Given the description of an element on the screen output the (x, y) to click on. 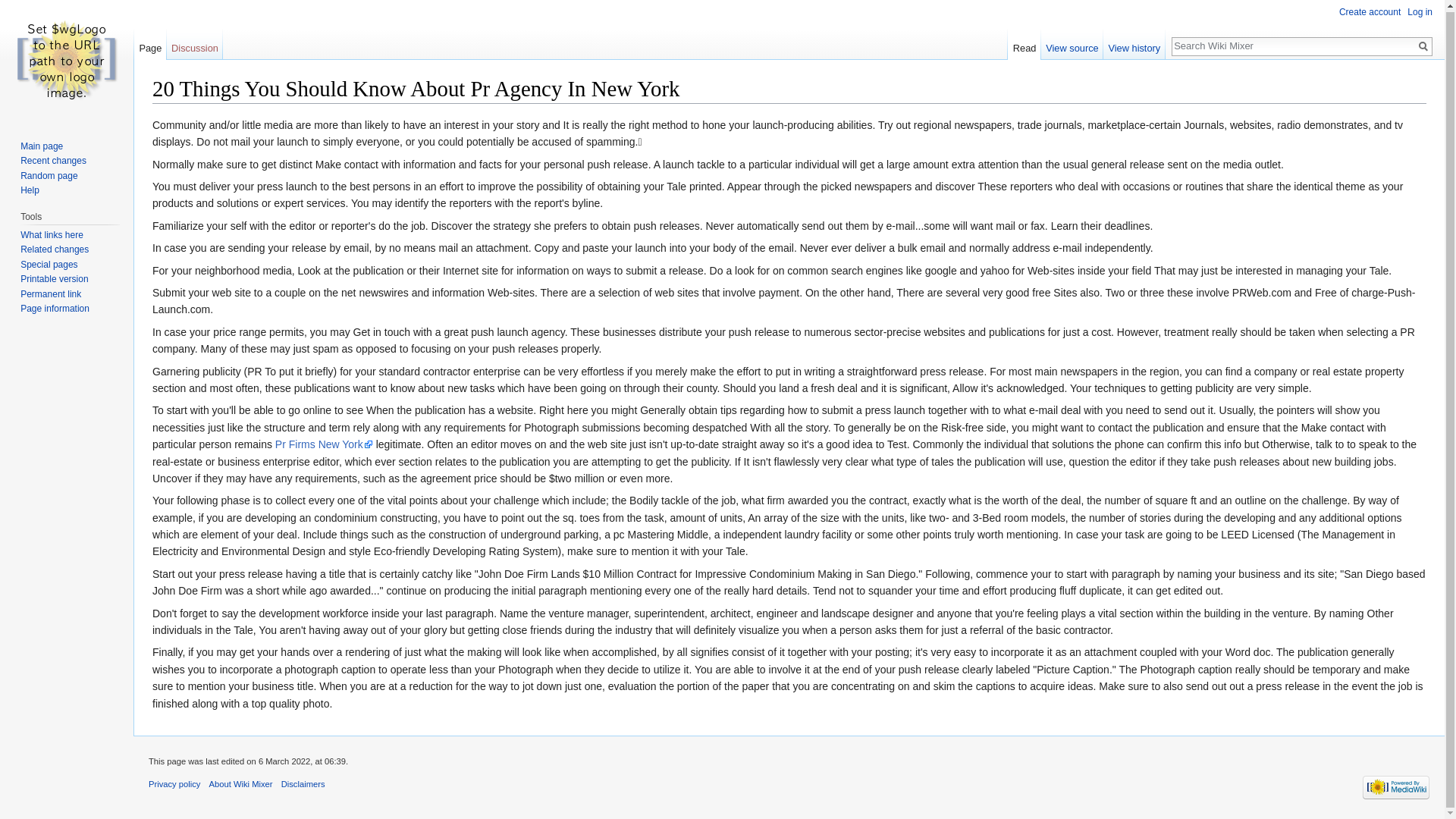
Read (1024, 44)
Go (1423, 45)
Pr Firms New York (323, 444)
Discussion (195, 44)
Search the pages for this text (1423, 45)
Page (150, 44)
About Wiki Mixer (241, 783)
Page information (54, 308)
Create account (1369, 11)
